Given the description of an element on the screen output the (x, y) to click on. 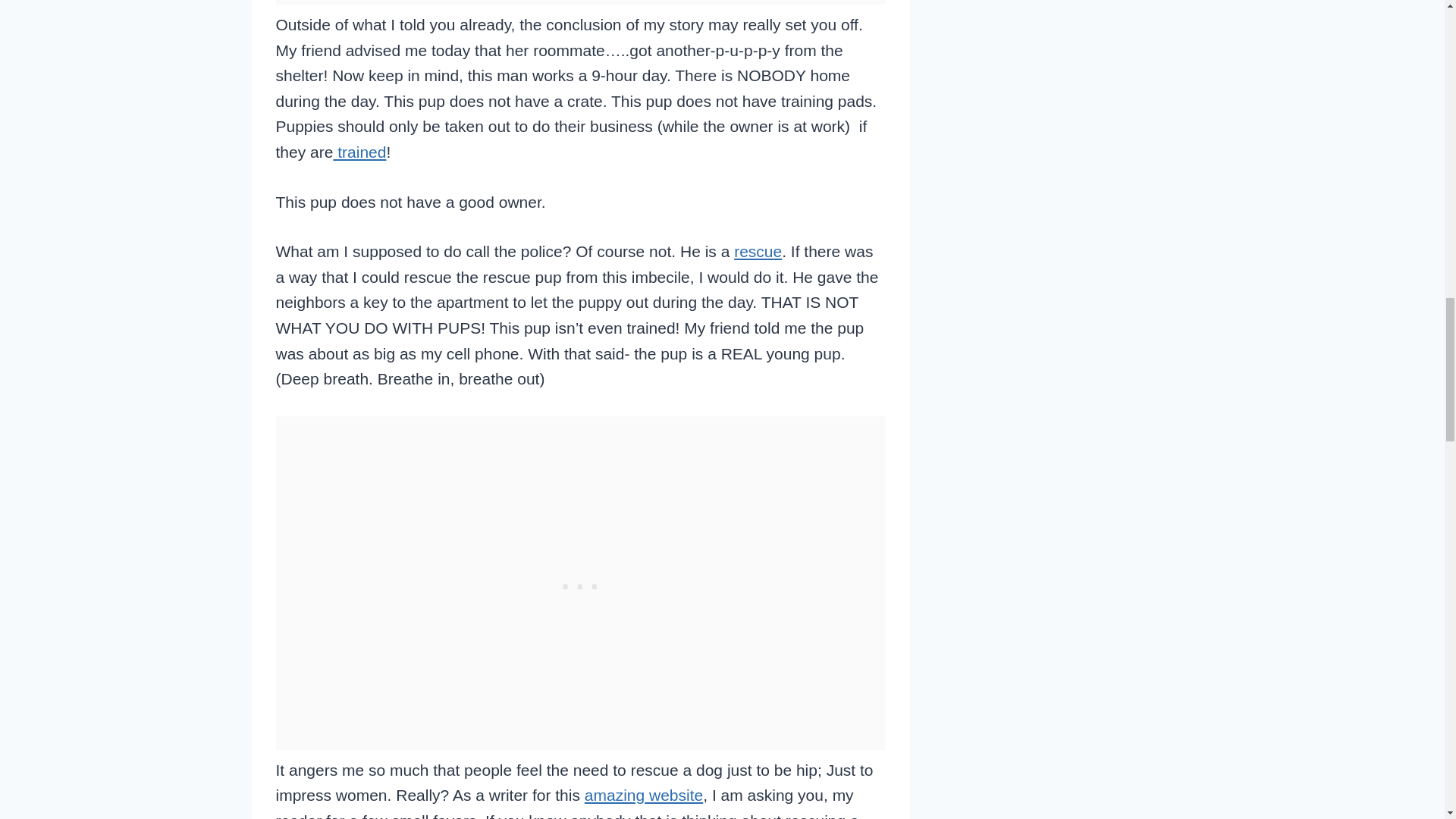
amazing website (644, 794)
trained (359, 151)
rescue (757, 251)
